Given the description of an element on the screen output the (x, y) to click on. 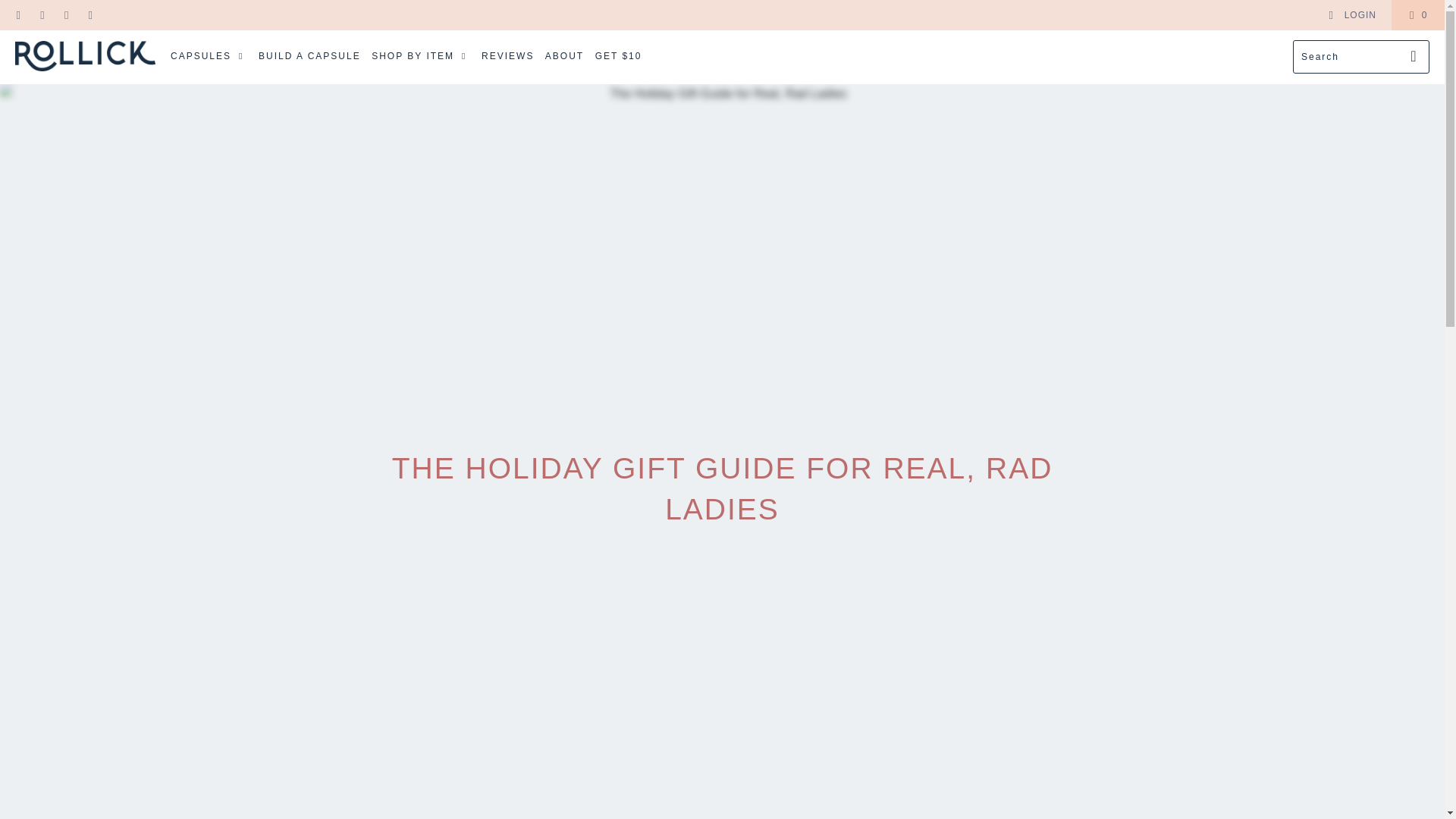
My Account  (1351, 15)
Rollick on Pinterest (41, 14)
Rollick (84, 56)
Email Rollick (89, 14)
Rollick on Facebook (17, 14)
Rollick on Instagram (65, 14)
